Given the description of an element on the screen output the (x, y) to click on. 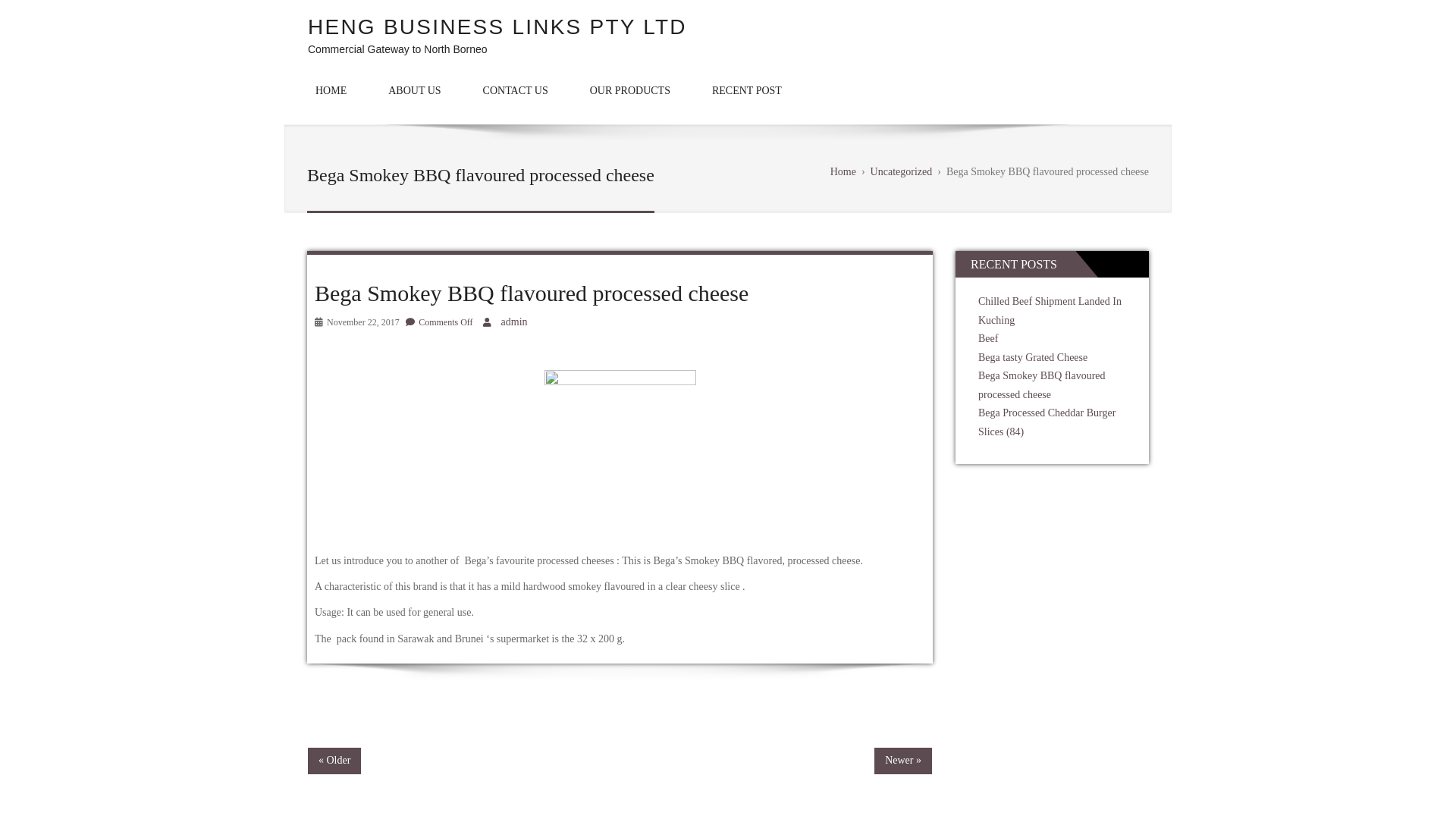
CONTACT US Element type: text (515, 90)
RECENT POST Element type: text (746, 90)
Bega tasty Grated Cheese Element type: text (1032, 357)
Chilled Beef Shipment Landed In Kuching Element type: text (1049, 310)
Bega Smokey BBQ flavoured processed cheese Element type: text (1041, 385)
Comments Off
on Bega Smokey BBQ flavoured processed cheese Element type: text (452, 321)
OUR PRODUCTS Element type: text (630, 90)
HOME Element type: text (330, 90)
Bega Smokey BBQ flavoured processed cheese Element type: text (531, 292)
Beef Element type: text (987, 338)
November 22, 2017 Element type: text (362, 321)
Uncategorized Element type: text (901, 170)
Home Element type: text (843, 170)
Bega Processed Cheddar Burger Slices (84) Element type: text (1046, 422)
HENG BUSINESS LINKS PTY LTD Element type: text (497, 26)
admin Element type: text (514, 321)
ABOUT US Element type: text (414, 90)
